Given the description of an element on the screen output the (x, y) to click on. 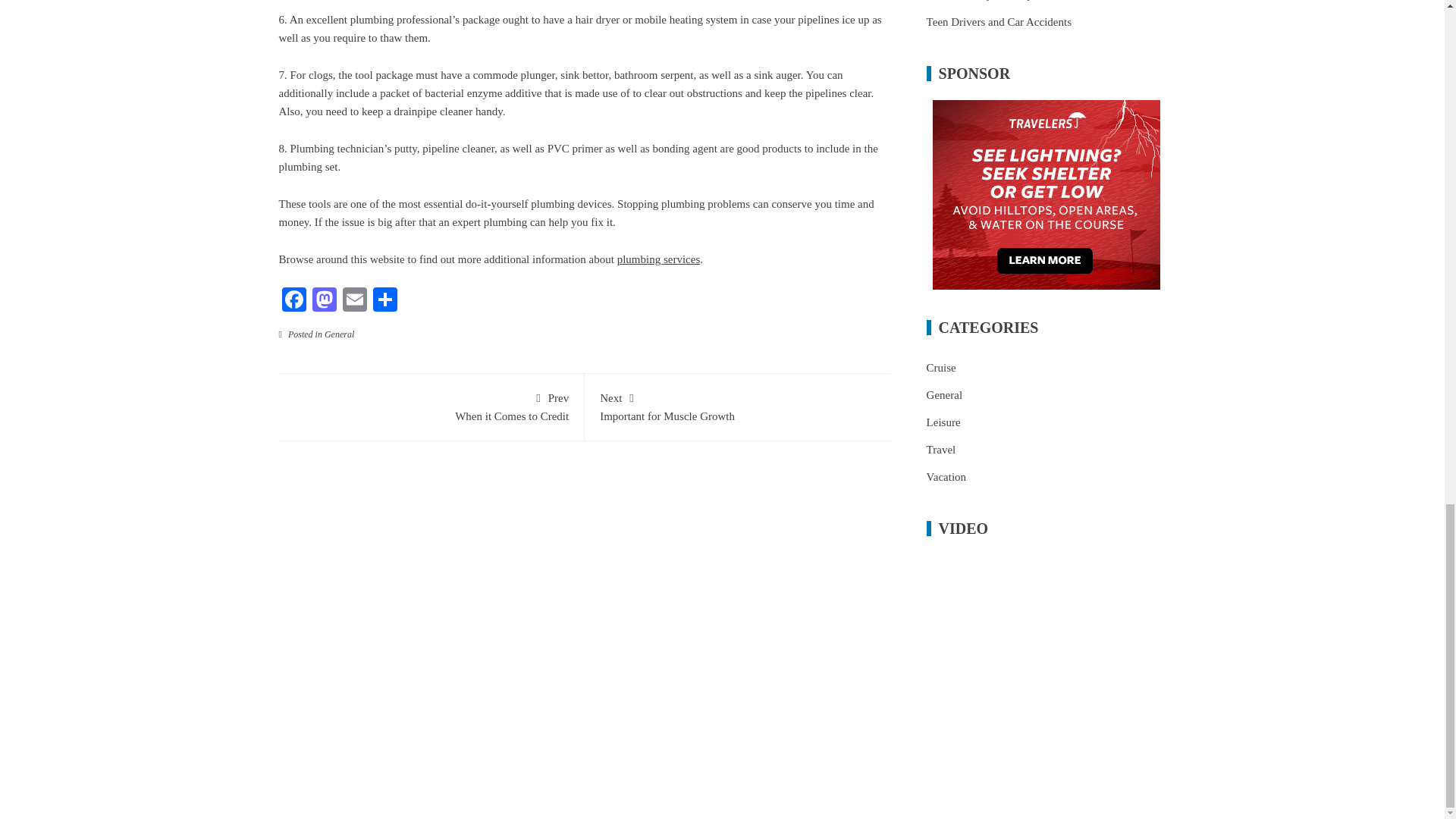
General (338, 334)
Facebook (293, 301)
Mastodon (431, 405)
Teen Drivers and Car Accidents (323, 301)
Cruise (998, 21)
Email (941, 367)
AC Efficiency and Repair Prevention (354, 301)
Facebook (354, 301)
plumbing services (293, 301)
Mastodon (658, 259)
